Given the description of an element on the screen output the (x, y) to click on. 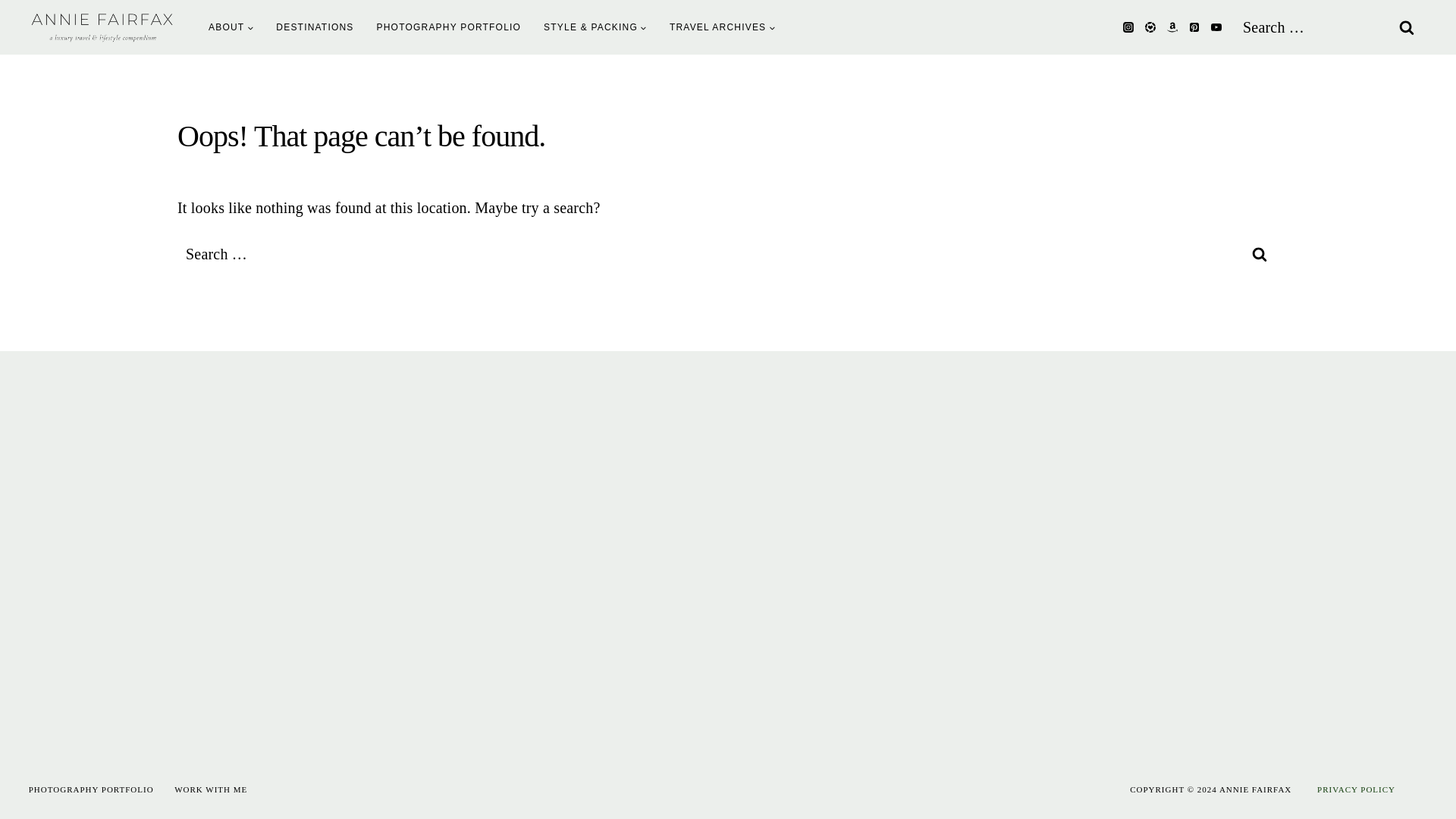
Search (1259, 253)
DESTINATIONS (314, 27)
ABOUT (230, 27)
Search (1406, 26)
TRAVEL ARCHIVES (722, 27)
Search (1259, 253)
Search (1406, 26)
PHOTOGRAPHY PORTFOLIO (448, 27)
